Given the description of an element on the screen output the (x, y) to click on. 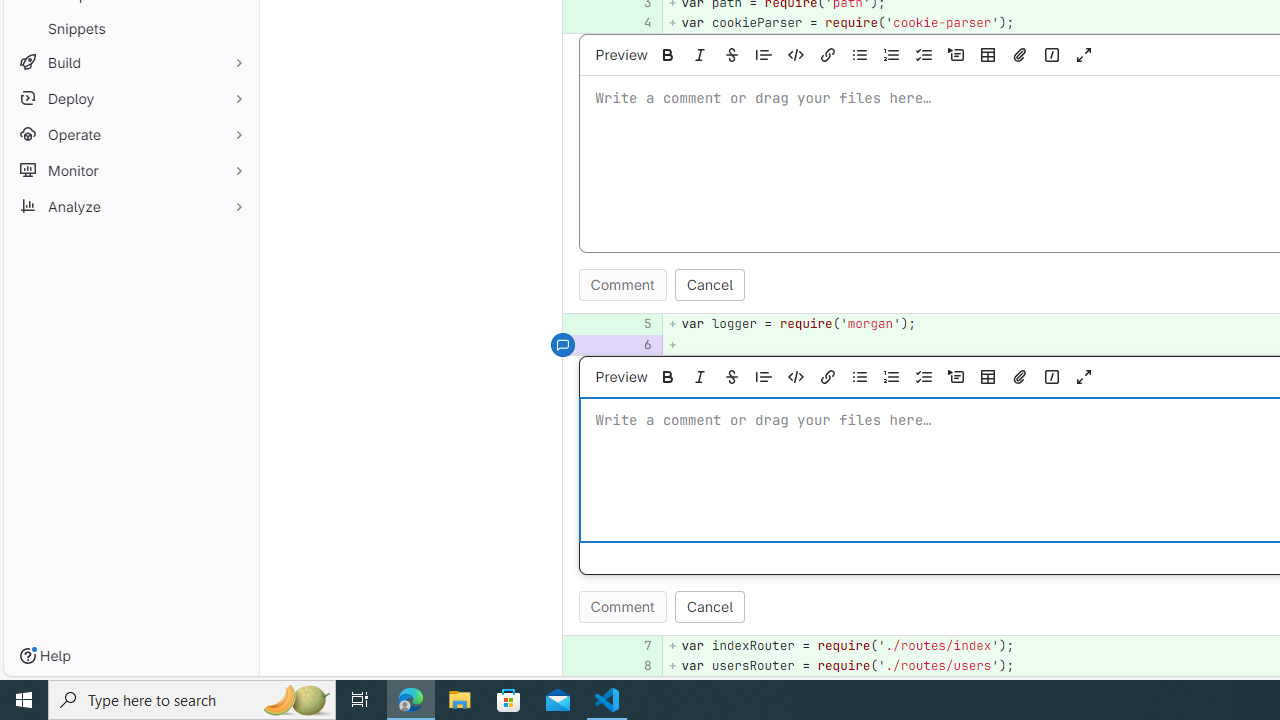
Build (130, 62)
6 (633, 344)
Monitor (130, 170)
Pin Snippets (234, 28)
Add a quick action (1051, 376)
Add a comment to this line  (587, 665)
Deploy (130, 98)
8 (633, 665)
6 (637, 344)
Comment (622, 605)
Add a comment to this line (562, 665)
Operate (130, 134)
Attach a file or image (1019, 376)
Add italic text (Ctrl+I) (699, 376)
Deploy (130, 98)
